Given the description of an element on the screen output the (x, y) to click on. 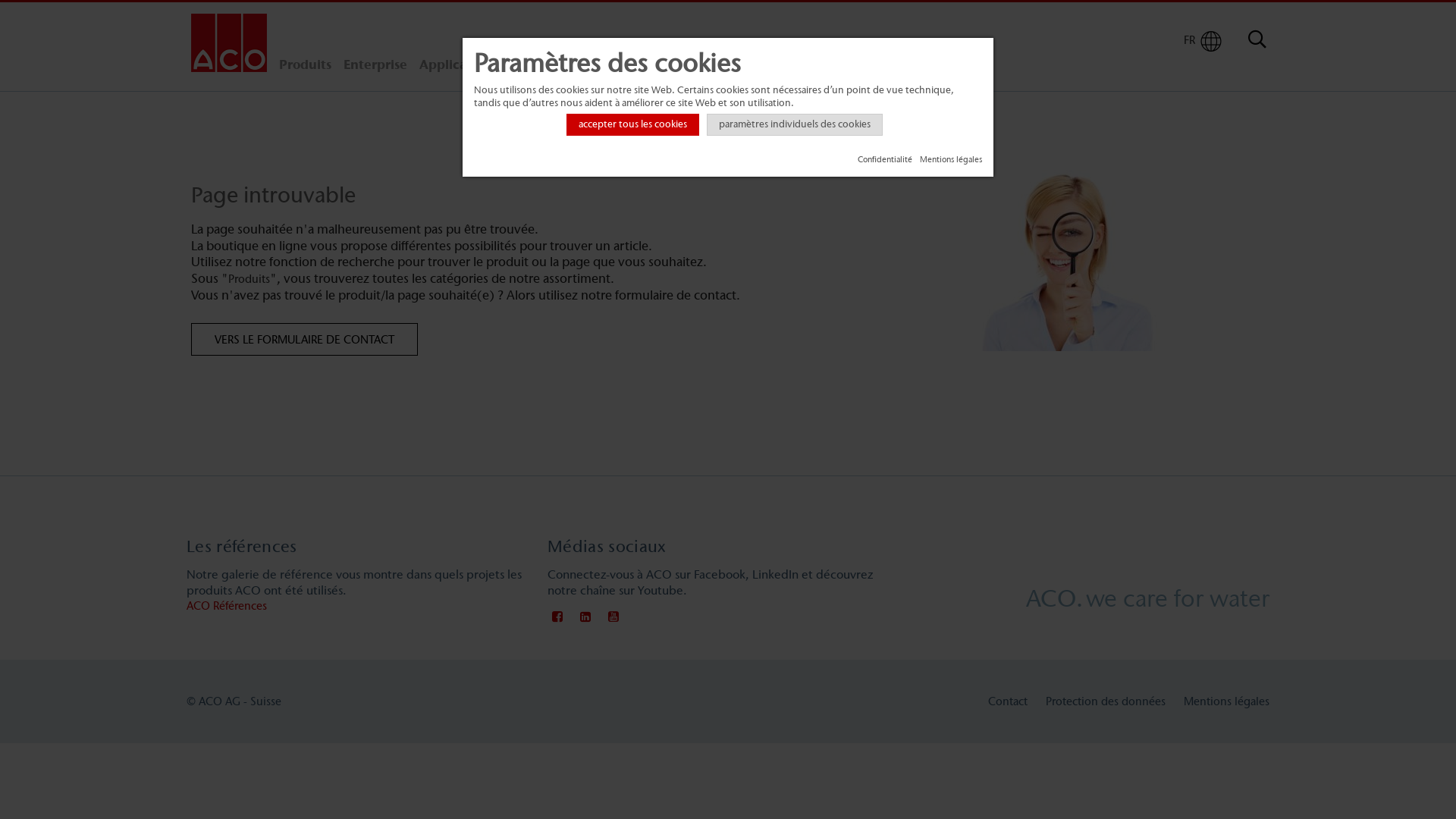
VERS LE FORMULAIRE DE CONTACT Element type: text (304, 339)
Produits Element type: text (305, 64)
accepter tous les cookies Element type: text (631, 124)
Enterprise Element type: text (375, 64)
Planification Element type: text (543, 64)
Download Element type: text (742, 64)
askACO | service Element type: text (646, 64)
Contact Element type: text (1007, 700)
Produits Element type: text (248, 278)
Application Element type: text (455, 64)
ACO AG Element type: hover (228, 42)
Contact Element type: text (810, 64)
FR Element type: text (1189, 39)
